Given the description of an element on the screen output the (x, y) to click on. 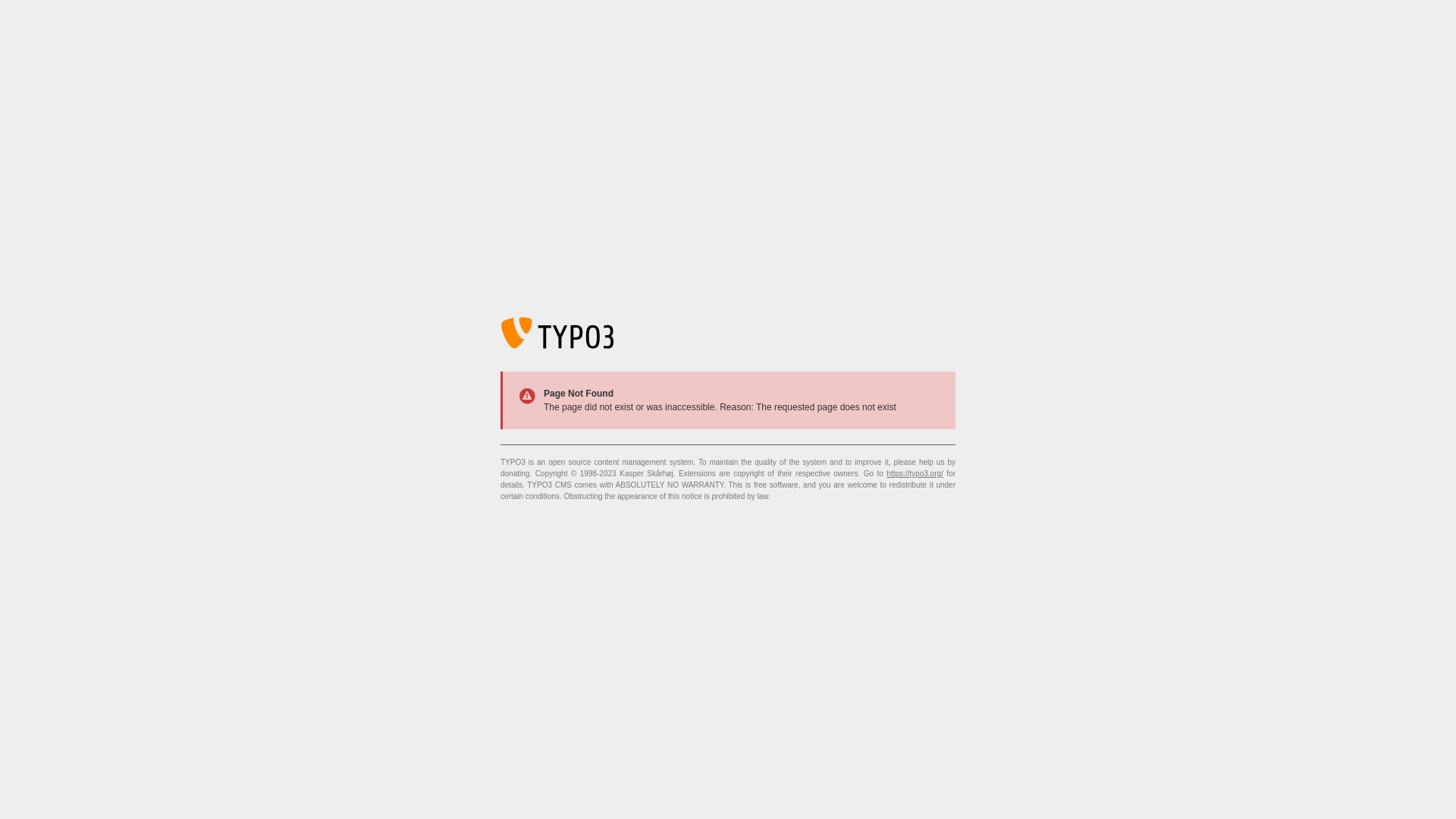
https://typo3.org/ Element type: text (914, 473)
